Given the description of an element on the screen output the (x, y) to click on. 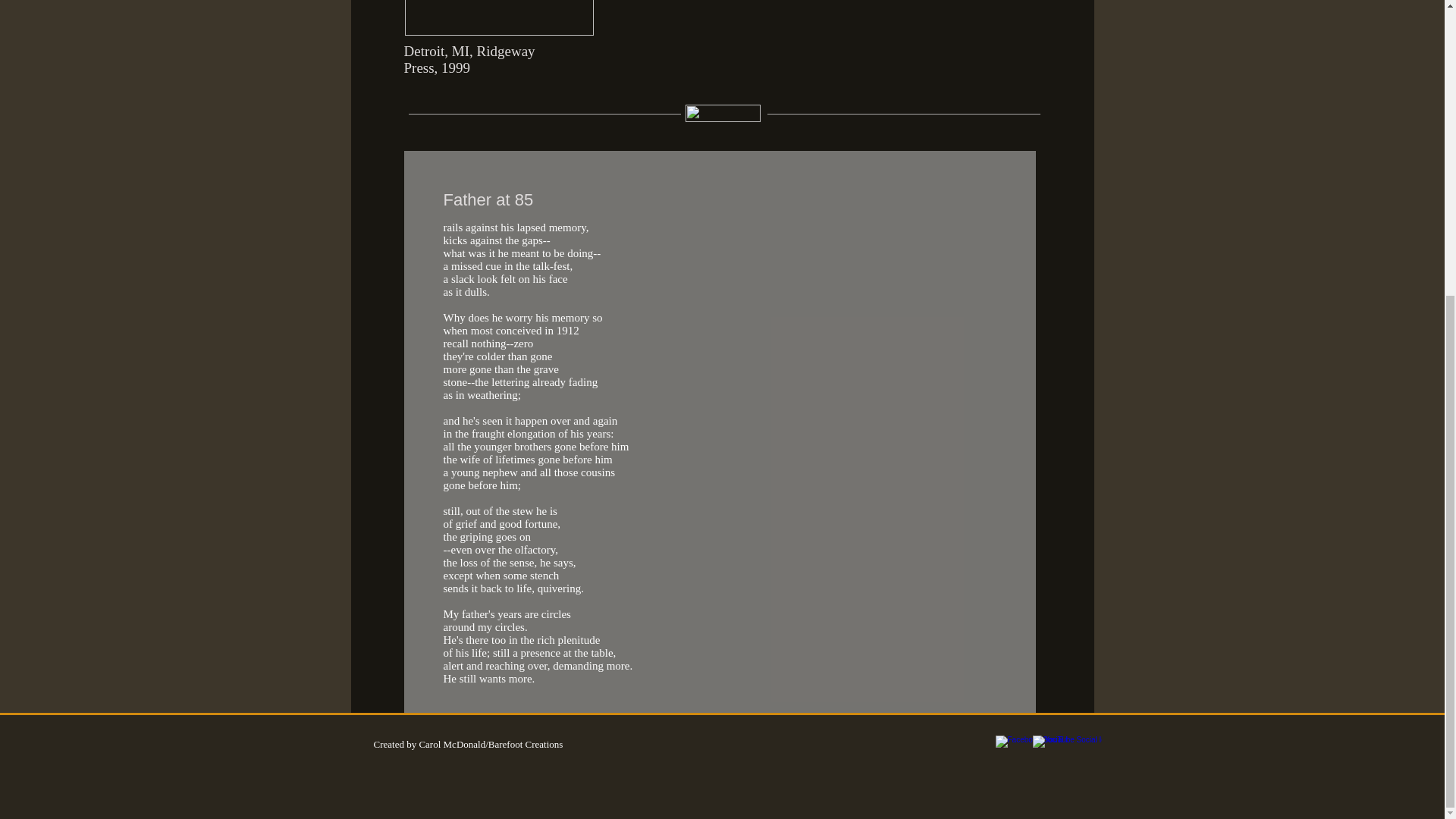
Twitter Tweet (951, 744)
Facebook Like (888, 744)
5.png (722, 113)
Measure.jpg (499, 18)
